Given the description of an element on the screen output the (x, y) to click on. 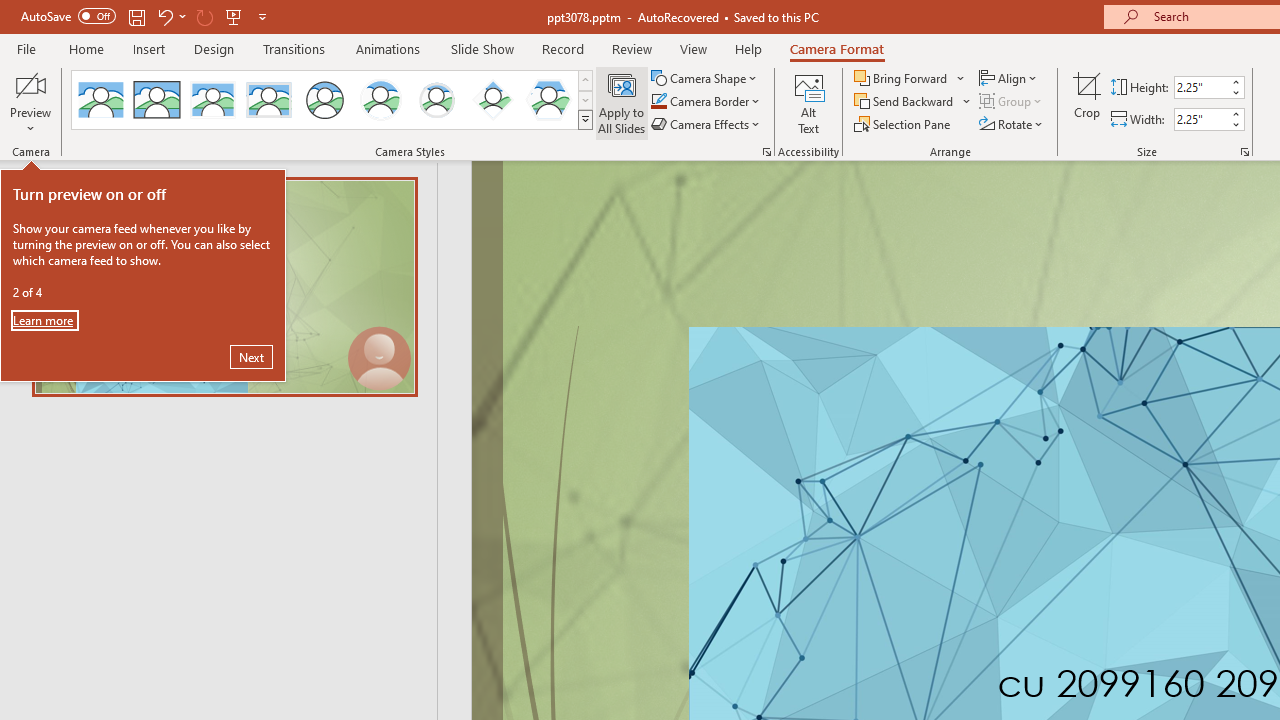
Crop (1087, 102)
Simple Frame Rectangle (157, 100)
Center Shadow Rectangle (212, 100)
Soft Edge Circle (436, 100)
